Given the description of an element on the screen output the (x, y) to click on. 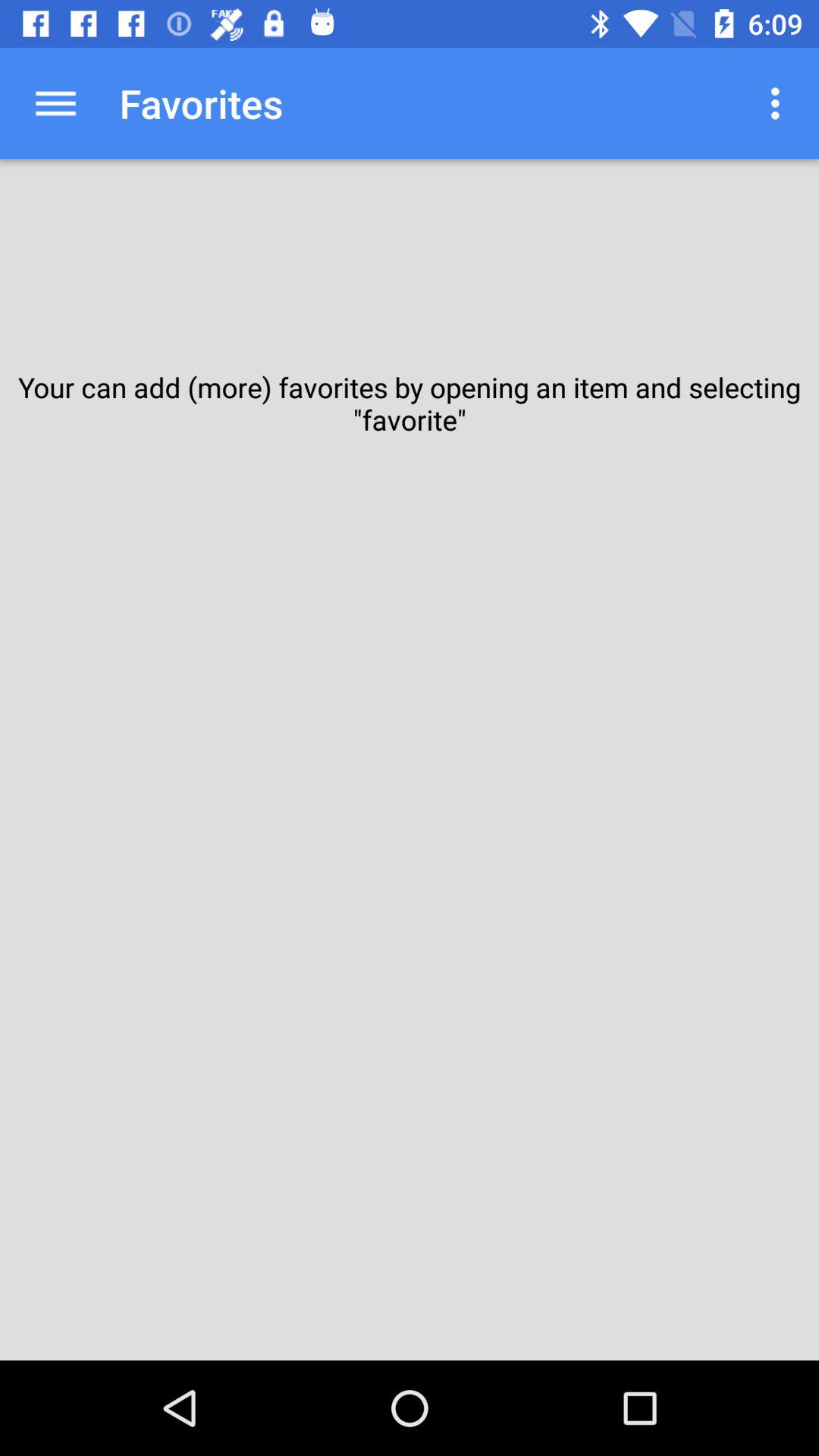
press icon next to the favorites (55, 103)
